Given the description of an element on the screen output the (x, y) to click on. 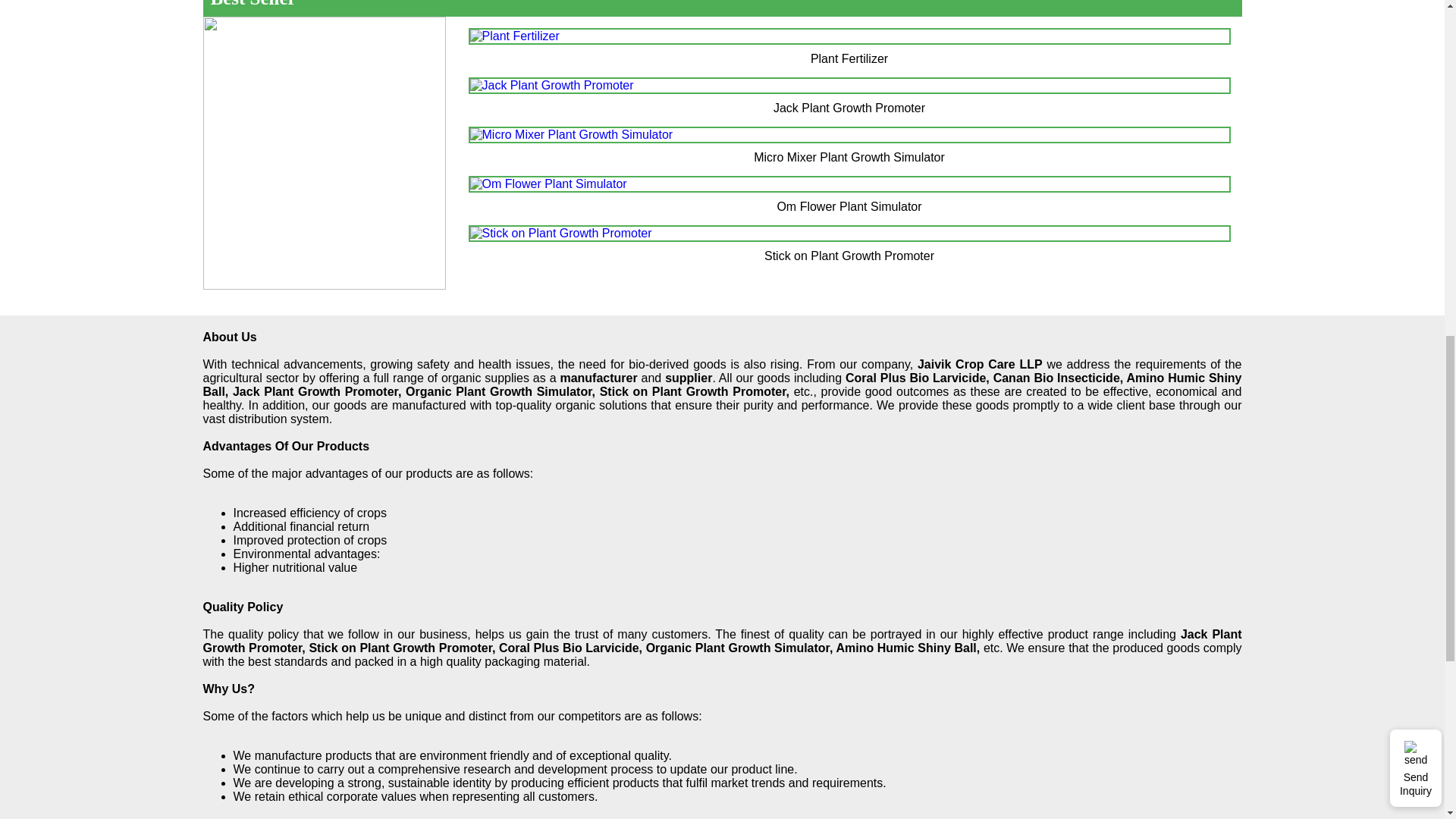
Micro Mixer Plant Growth Simulator (571, 134)
Om Flower Plant Simulator (548, 183)
Stick on Plant Growth Promoter (561, 233)
Jack Plant Growth Promoter (551, 85)
Plant Fertilizer (514, 36)
